Given the description of an element on the screen output the (x, y) to click on. 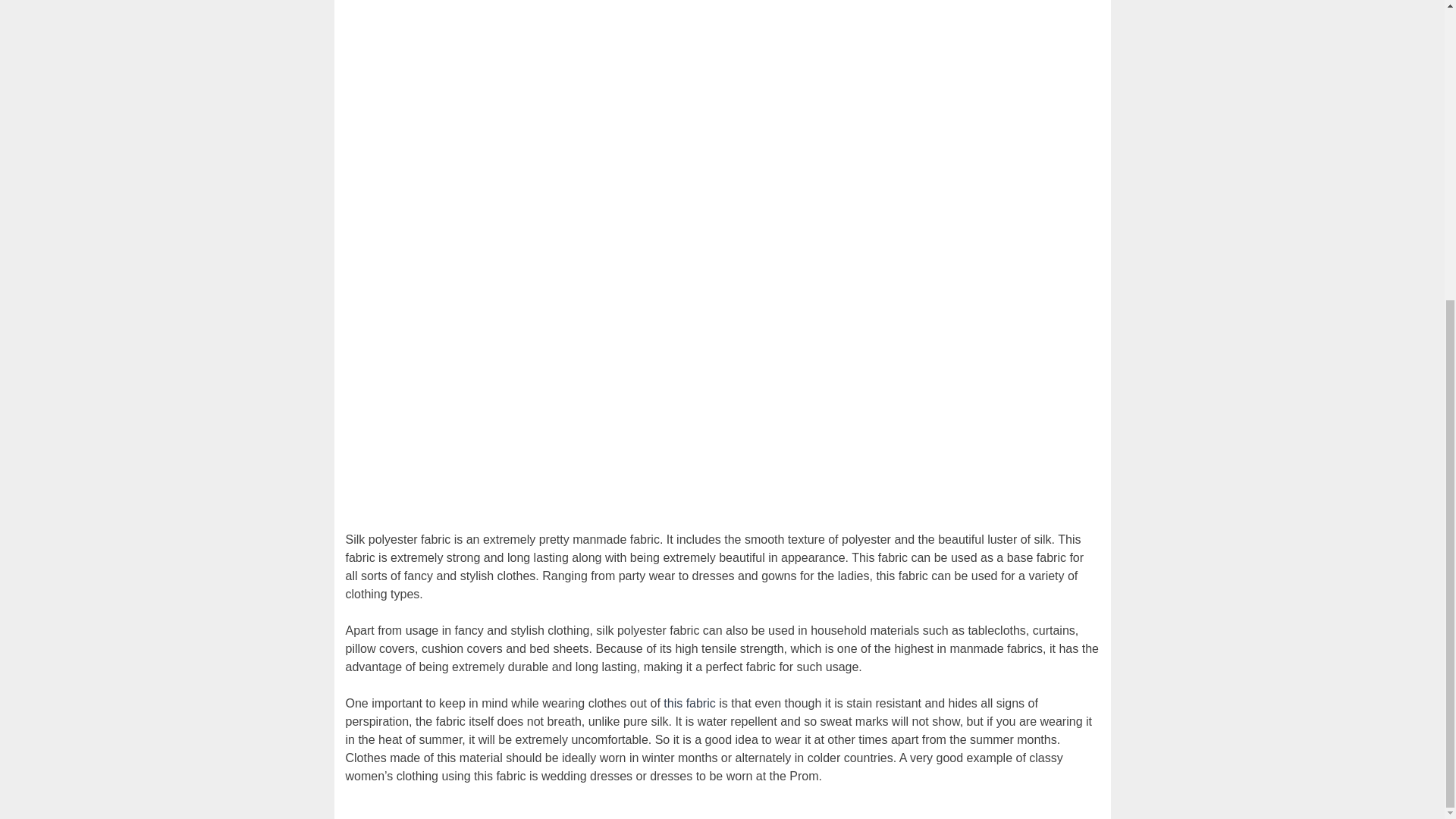
this fabric (688, 702)
